Given the description of an element on the screen output the (x, y) to click on. 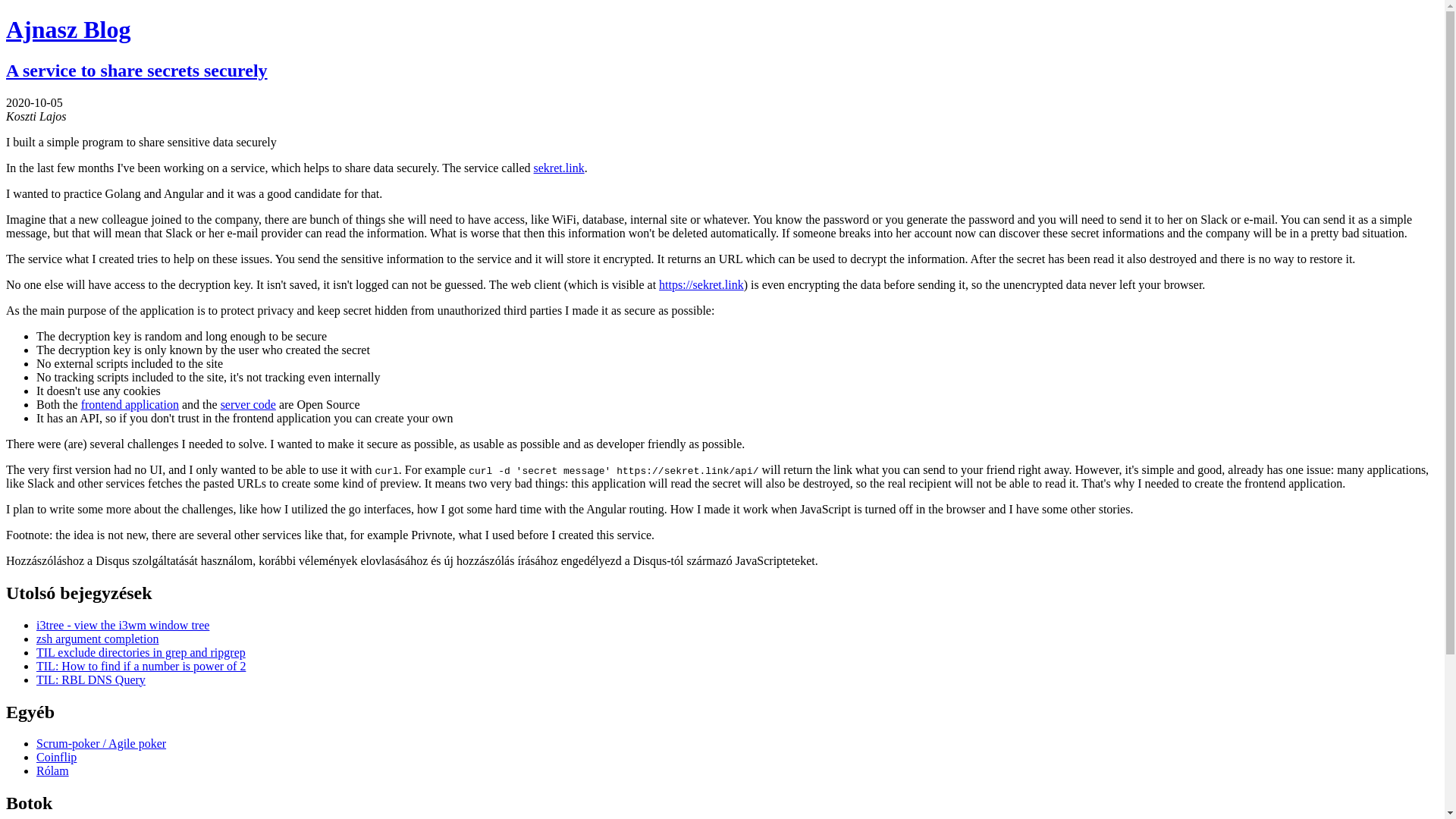
Ajnasz Blog (68, 29)
server code (248, 404)
A service to share secrets securely (136, 70)
i3tree - view the i3wm window tree (122, 625)
TIL exclude directories in grep and ripgrep (141, 652)
TIL: How to find if a number is power of 2 (141, 666)
zsh argument completion (97, 638)
Coinflip (56, 757)
sekret.link (559, 167)
TIL: RBL DNS Query (90, 679)
frontend application (130, 404)
